Given the description of an element on the screen output the (x, y) to click on. 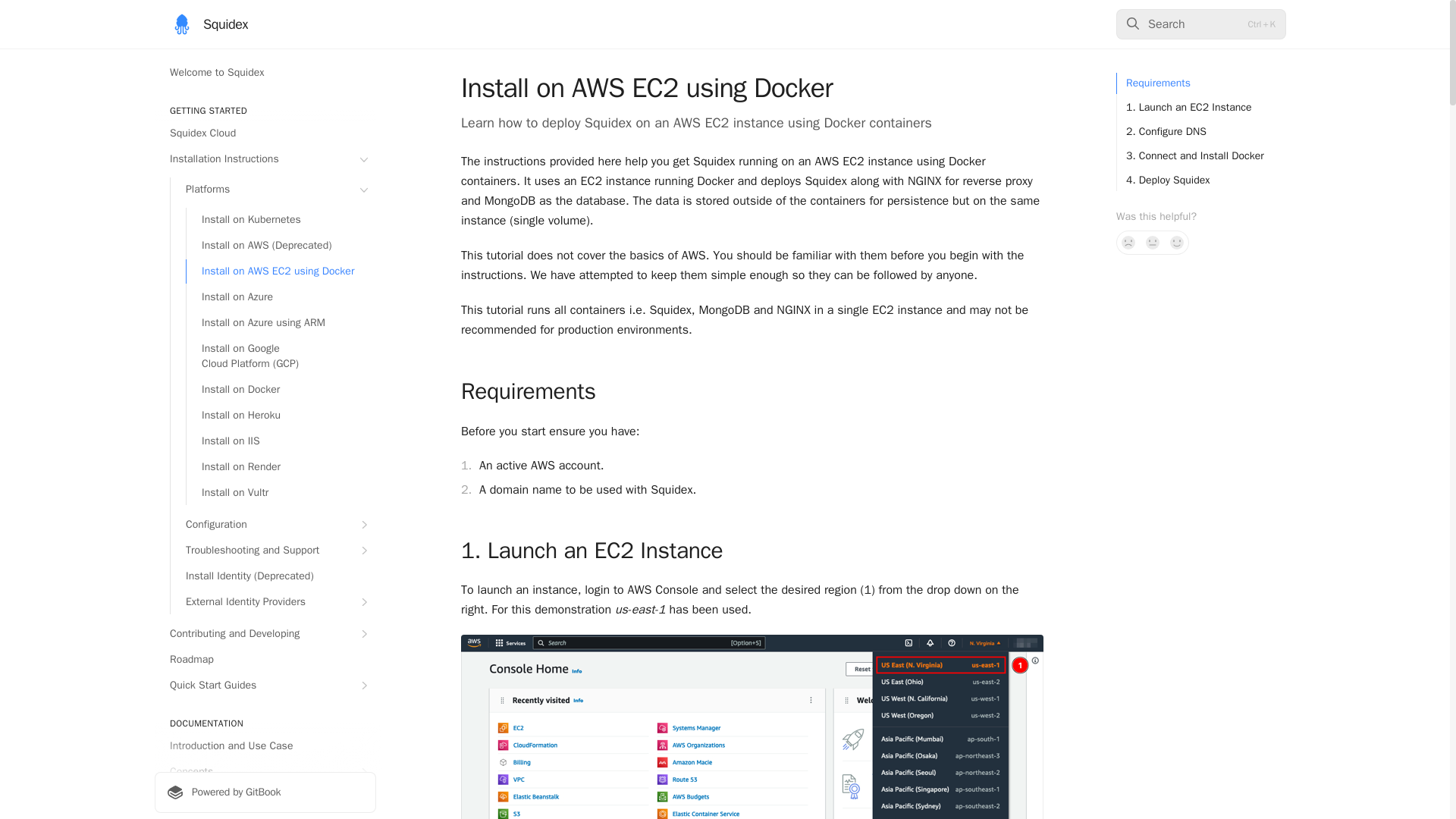
Install on Azure using ARM (280, 322)
No (1128, 242)
Install on Docker (280, 389)
External Identity Providers (272, 601)
Quick Start Guides (264, 685)
Install on Kubernetes (280, 219)
Roadmap (264, 659)
Install on IIS (280, 441)
Install on Heroku (280, 415)
Squidex Cloud (264, 133)
Install on Azure (280, 297)
Platforms (272, 189)
Install on AWS EC2 using Docker (280, 271)
Not sure (1152, 242)
Configuration (272, 524)
